Given the description of an element on the screen output the (x, y) to click on. 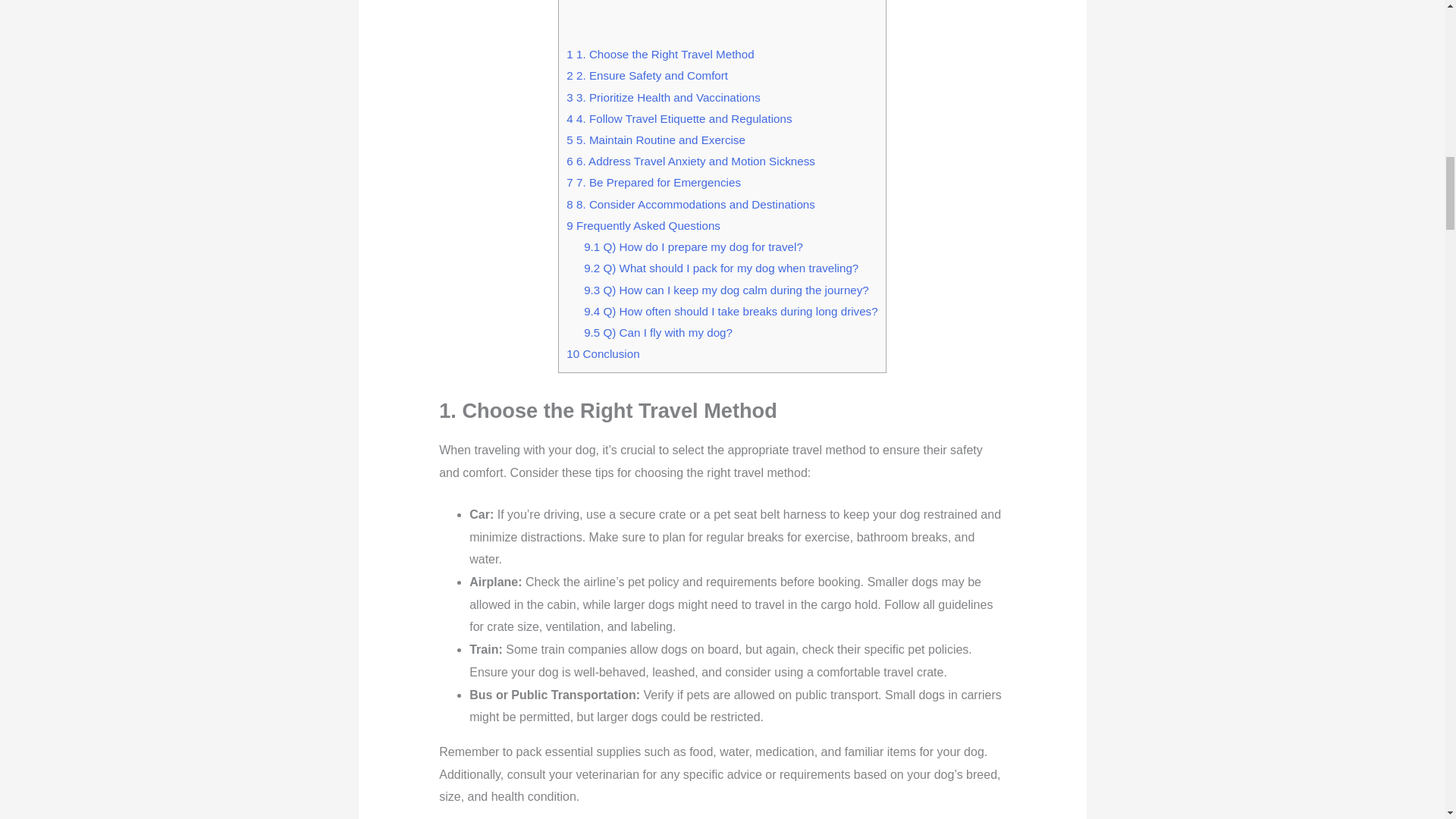
5 5. Maintain Routine and Exercise (655, 139)
1 1. Choose the Right Travel Method (660, 53)
2 2. Ensure Safety and Comfort (647, 74)
3 3. Prioritize Health and Vaccinations (663, 97)
4 4. Follow Travel Etiquette and Regulations (679, 118)
